Given the description of an element on the screen output the (x, y) to click on. 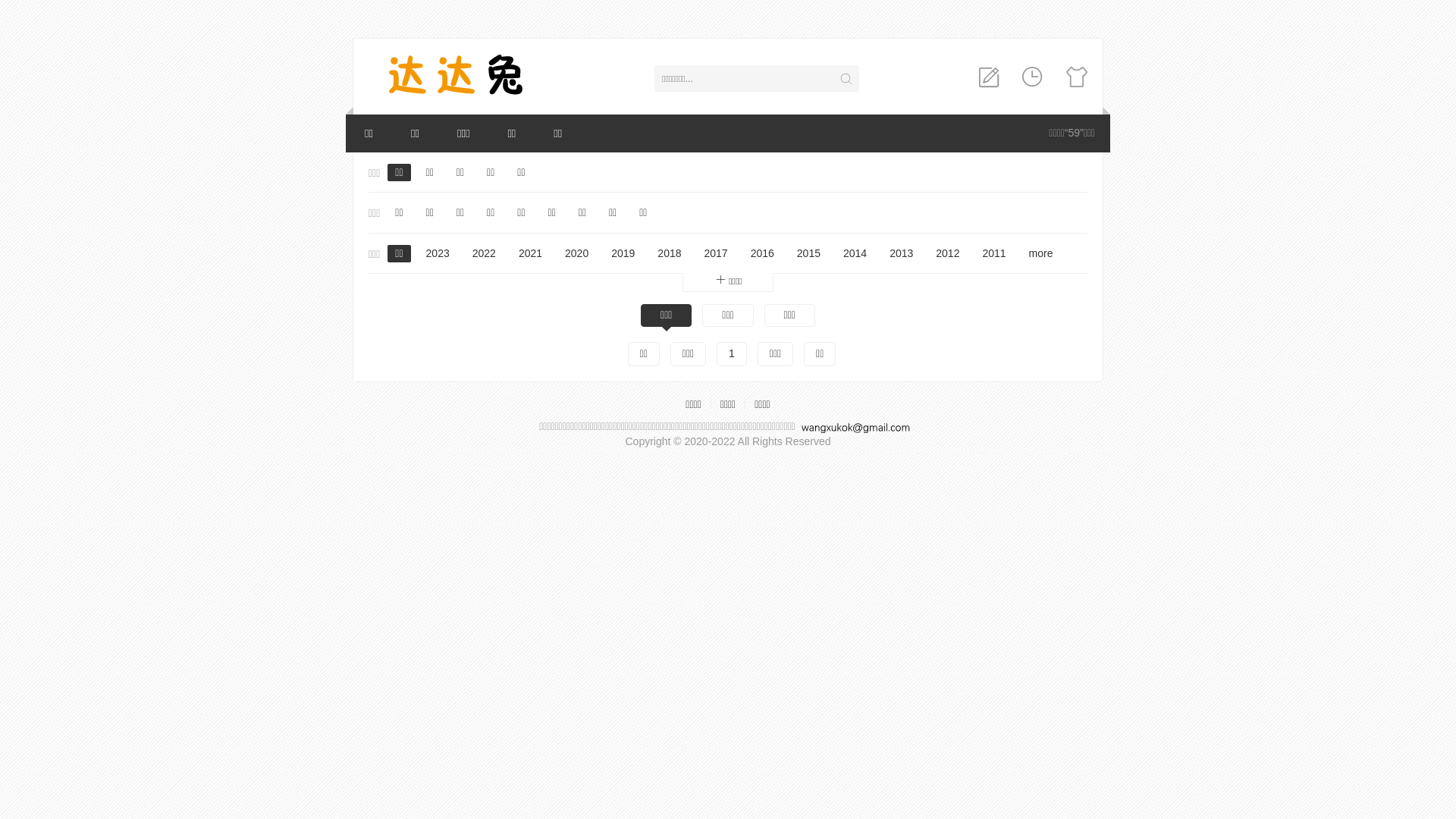
2018 Element type: text (668, 253)
2012 Element type: text (947, 253)
2021 Element type: text (530, 253)
2022 Element type: text (483, 253)
2014 Element type: text (854, 253)
2016 Element type: text (762, 253)
2017 Element type: text (715, 253)
2019 Element type: text (622, 253)
2013 Element type: text (900, 253)
2023 Element type: text (437, 253)
more Element type: text (1040, 253)
2011 Element type: text (993, 253)
1 Element type: text (731, 354)
2015 Element type: text (808, 253)
2020 Element type: text (576, 253)
